Given the description of an element on the screen output the (x, y) to click on. 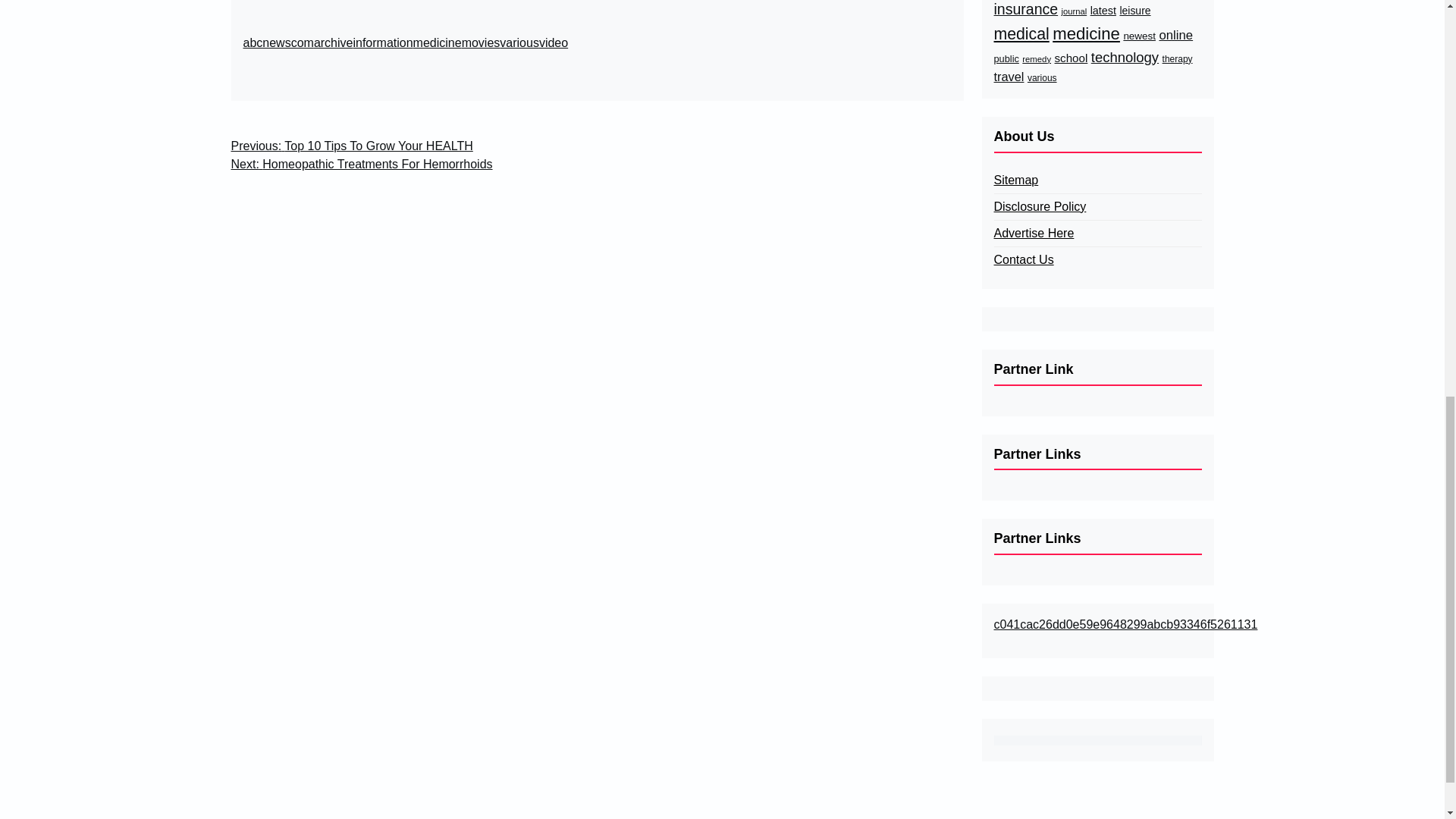
Previous: Top 10 Tips To Grow Your HEALTH (350, 146)
various (518, 43)
Seedbacklink (1096, 740)
information (382, 43)
archive (333, 43)
medicine (437, 43)
movies (480, 43)
abcnewscom (278, 43)
Next: Homeopathic Treatments For Hemorrhoids (361, 164)
video (552, 43)
